Given the description of an element on the screen output the (x, y) to click on. 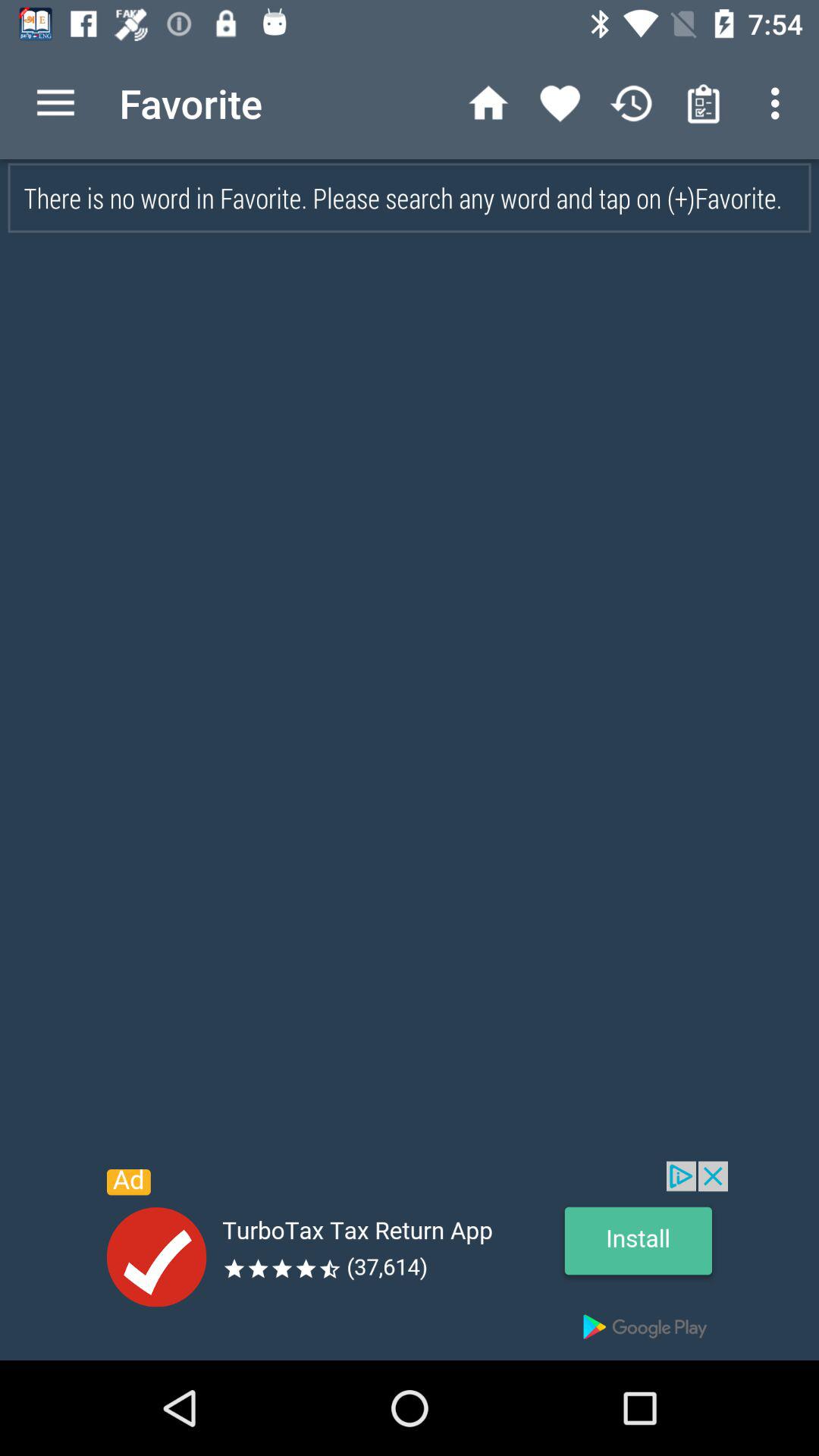
you tube page (409, 1260)
